Given the description of an element on the screen output the (x, y) to click on. 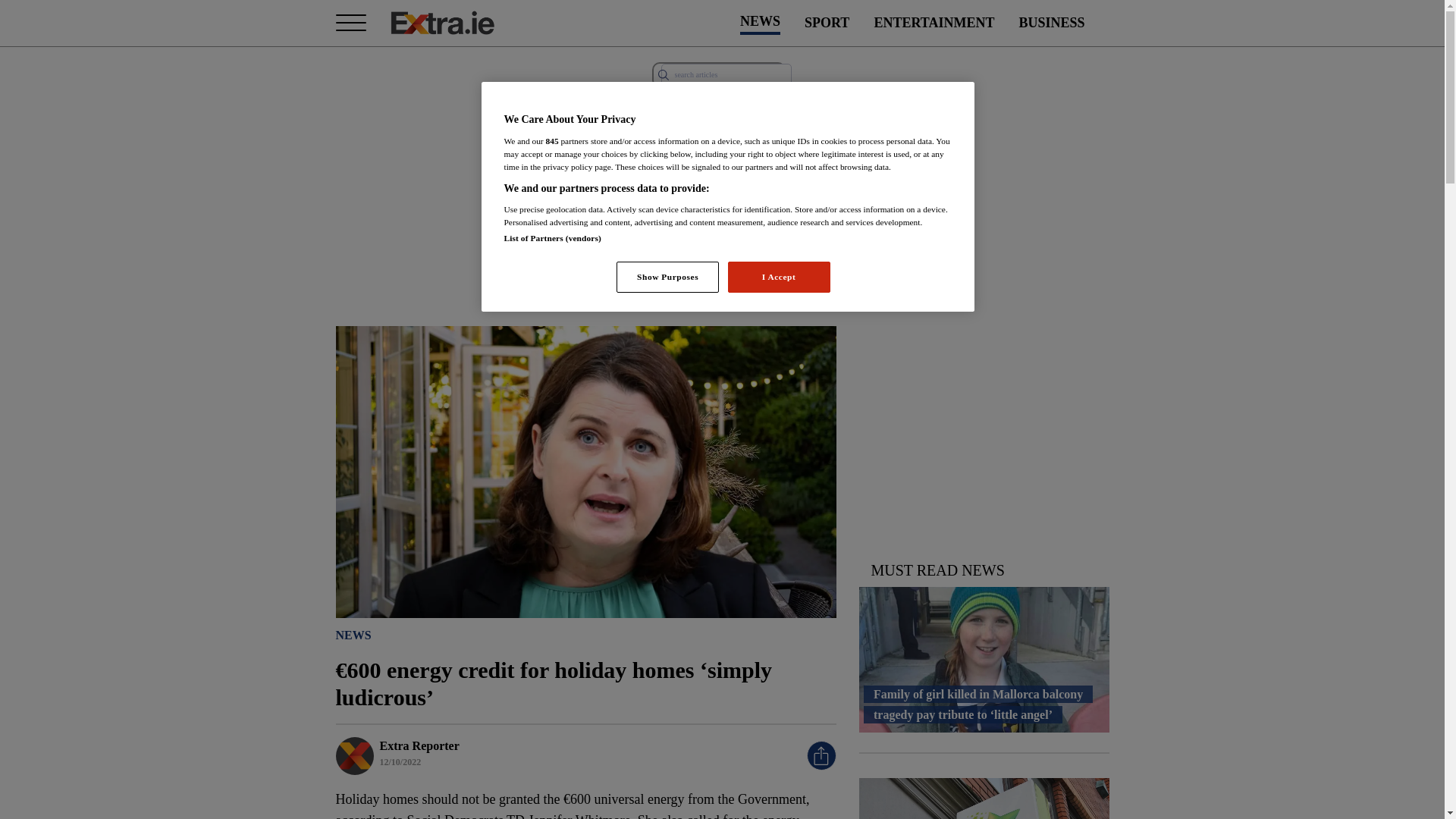
Extra Reporter (418, 744)
NEWS (759, 23)
Submit the search query (662, 73)
NEWS (352, 634)
SPORT (826, 23)
ENTERTAINMENT (933, 23)
BUSINESS (1050, 23)
